Given the description of an element on the screen output the (x, y) to click on. 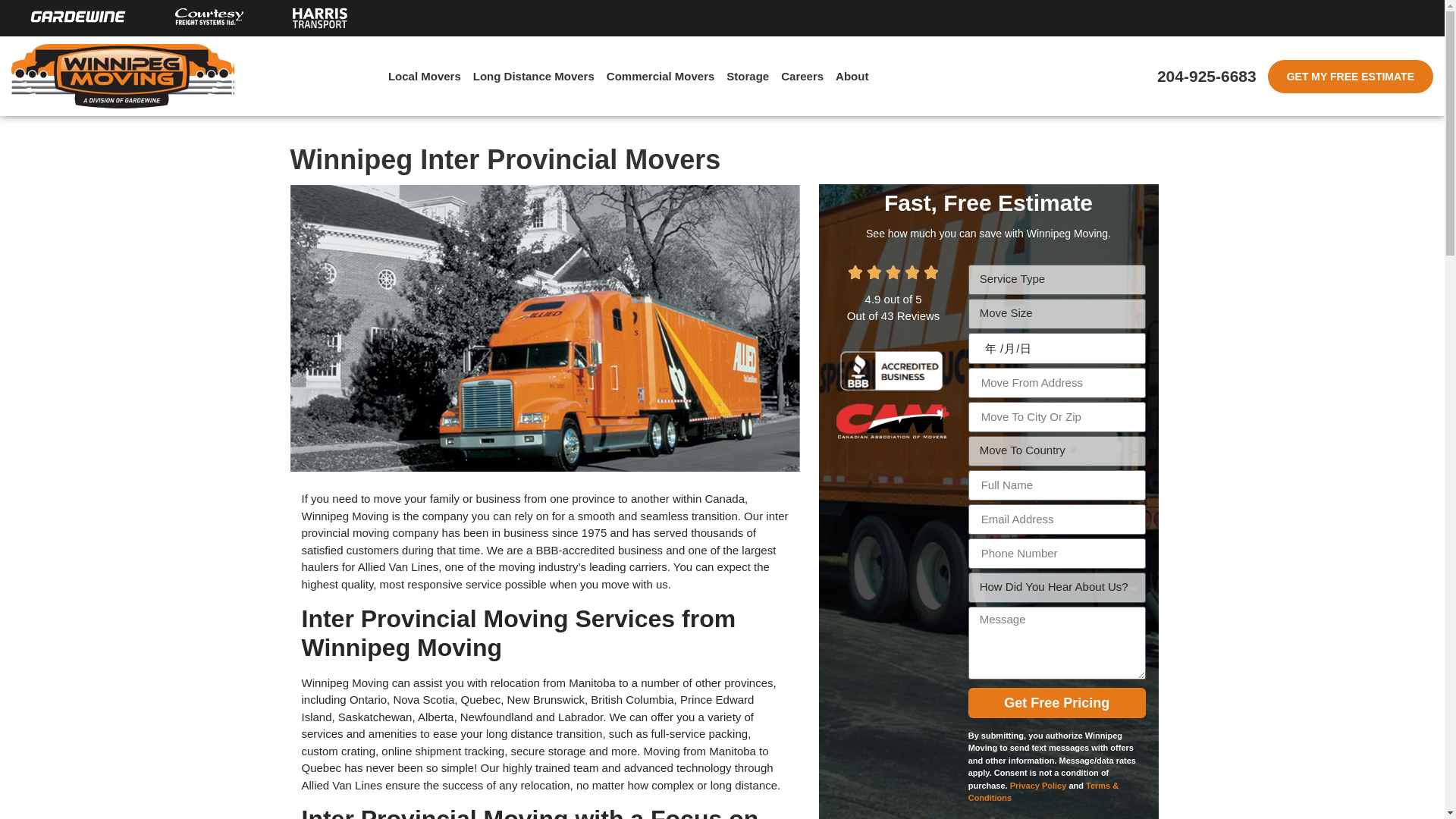
logo-en (892, 421)
Storage (747, 76)
Commercial Movers (659, 76)
Long Distance Movers (533, 76)
Careers (801, 76)
Local Movers (424, 76)
brand-bbb (892, 369)
About (852, 76)
image345345 (122, 76)
